Given the description of an element on the screen output the (x, y) to click on. 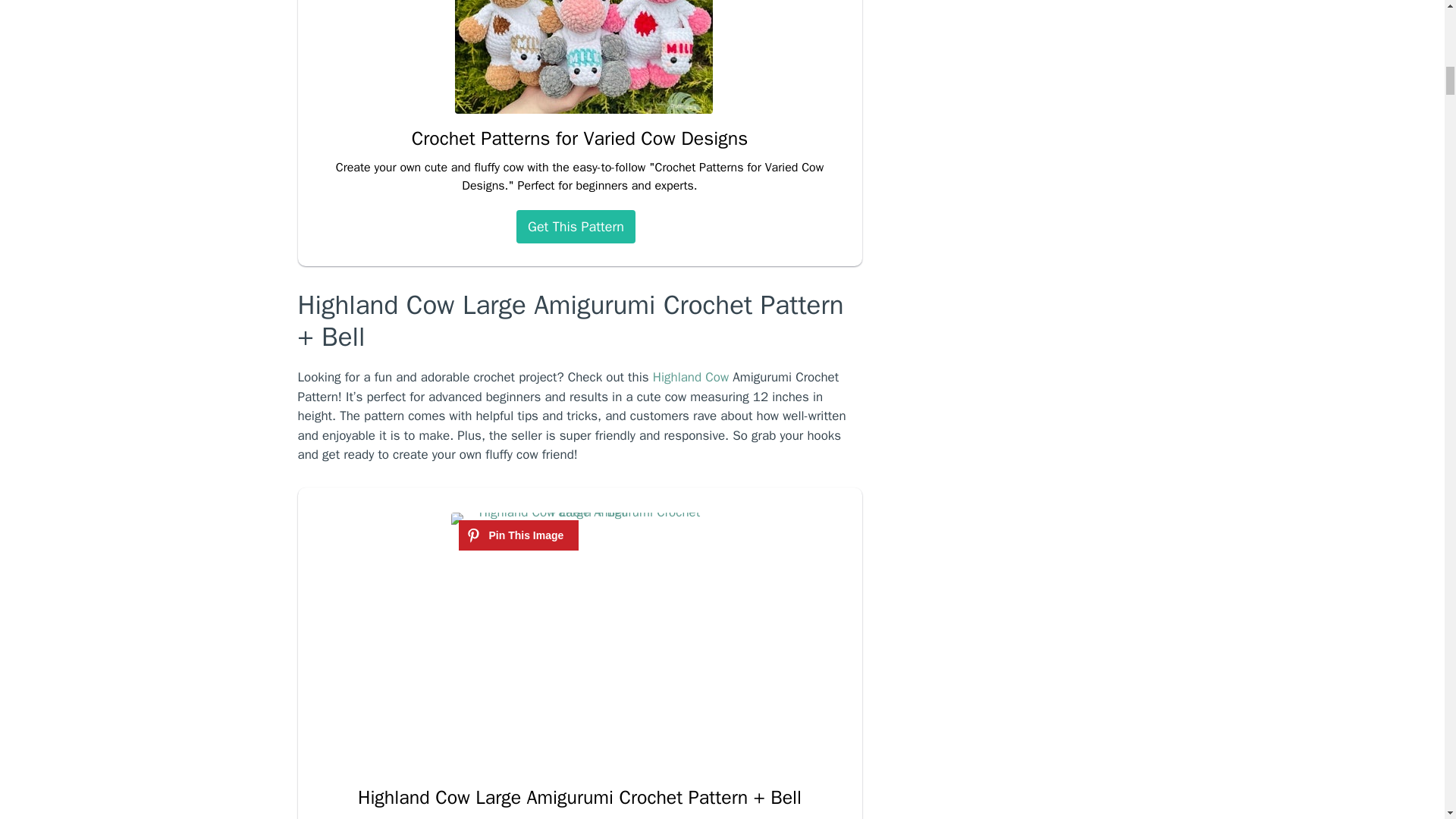
Crochet Patterns for Varied Cow Designs (579, 138)
Crochet Patterns for Varied Cow Designs (583, 113)
Get This Pattern (575, 226)
Highland Cow (690, 376)
Crochet Patterns for Varied Cow Designs (579, 138)
